Given the description of an element on the screen output the (x, y) to click on. 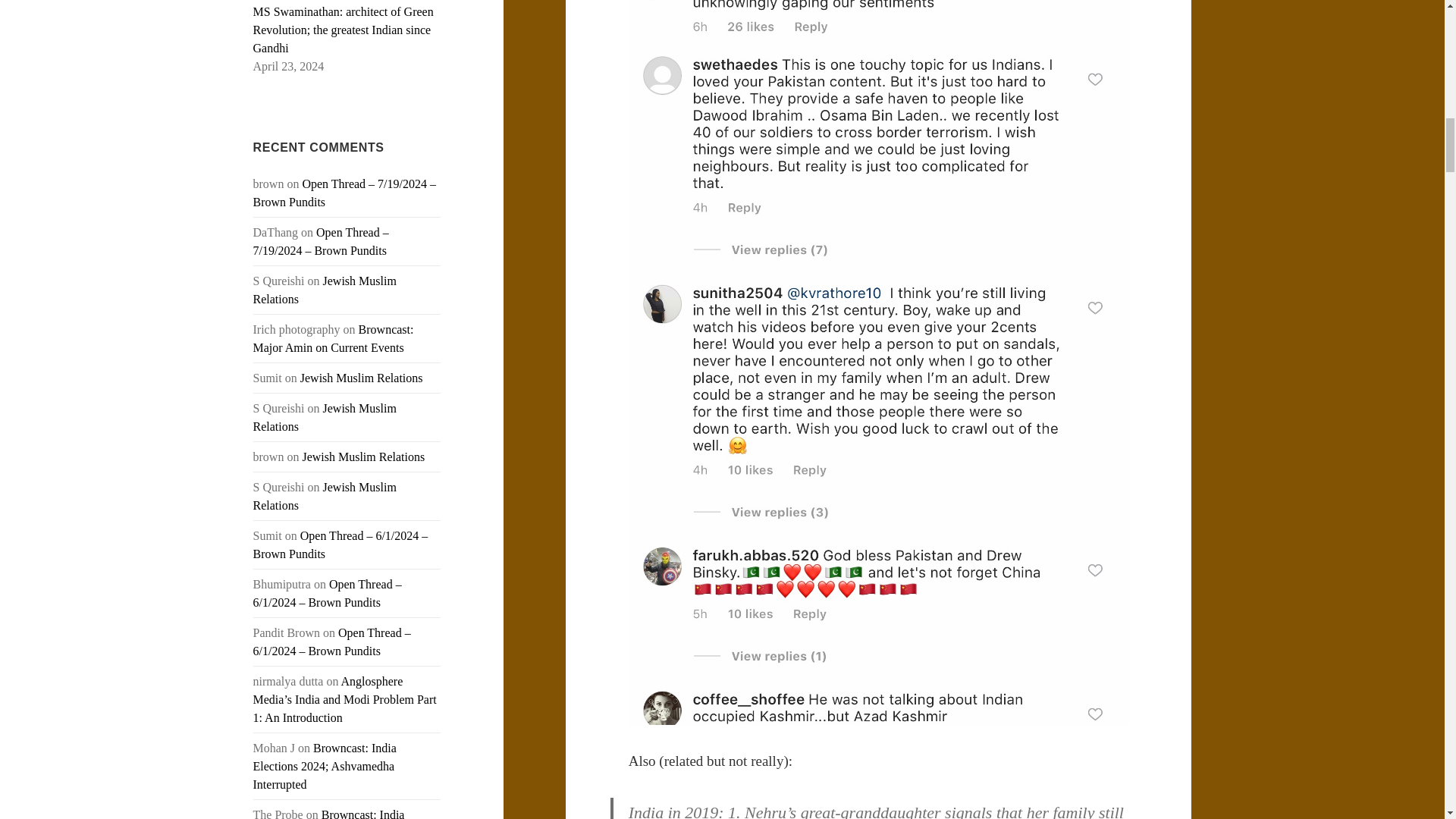
Jewish Muslim Relations (324, 289)
Jewish Muslim Relations (324, 417)
Browncast: Major Amin on Current Events (333, 337)
Jewish Muslim Relations (361, 377)
Jewish Muslim Relations (324, 495)
Jewish Muslim Relations (363, 456)
